Given the description of an element on the screen output the (x, y) to click on. 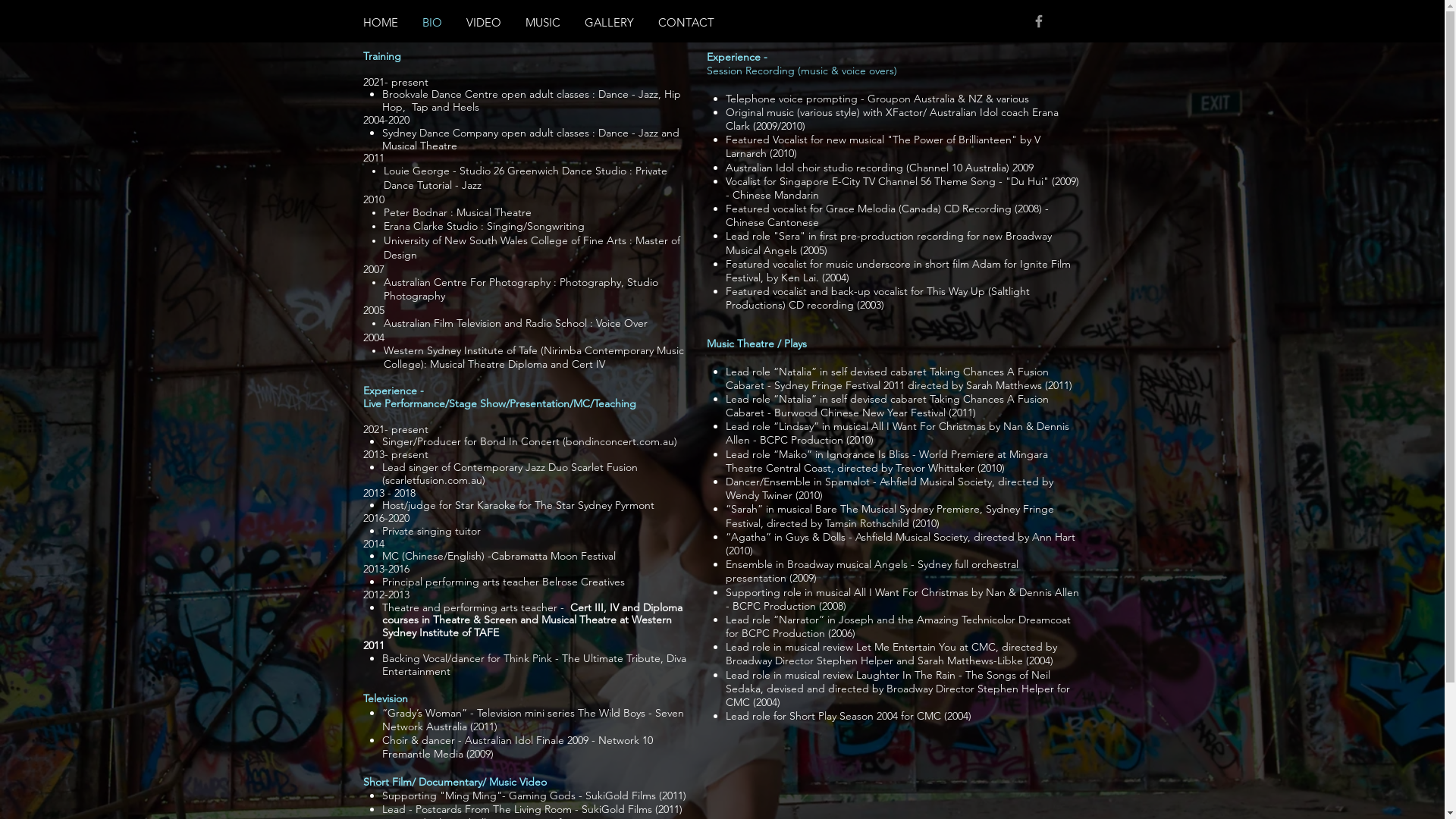
CONTACT Element type: text (686, 22)
HOME Element type: text (379, 22)
BIO Element type: text (431, 22)
MUSIC Element type: text (541, 22)
GALLERY Element type: text (608, 22)
VIDEO Element type: text (482, 22)
